Given the description of an element on the screen output the (x, y) to click on. 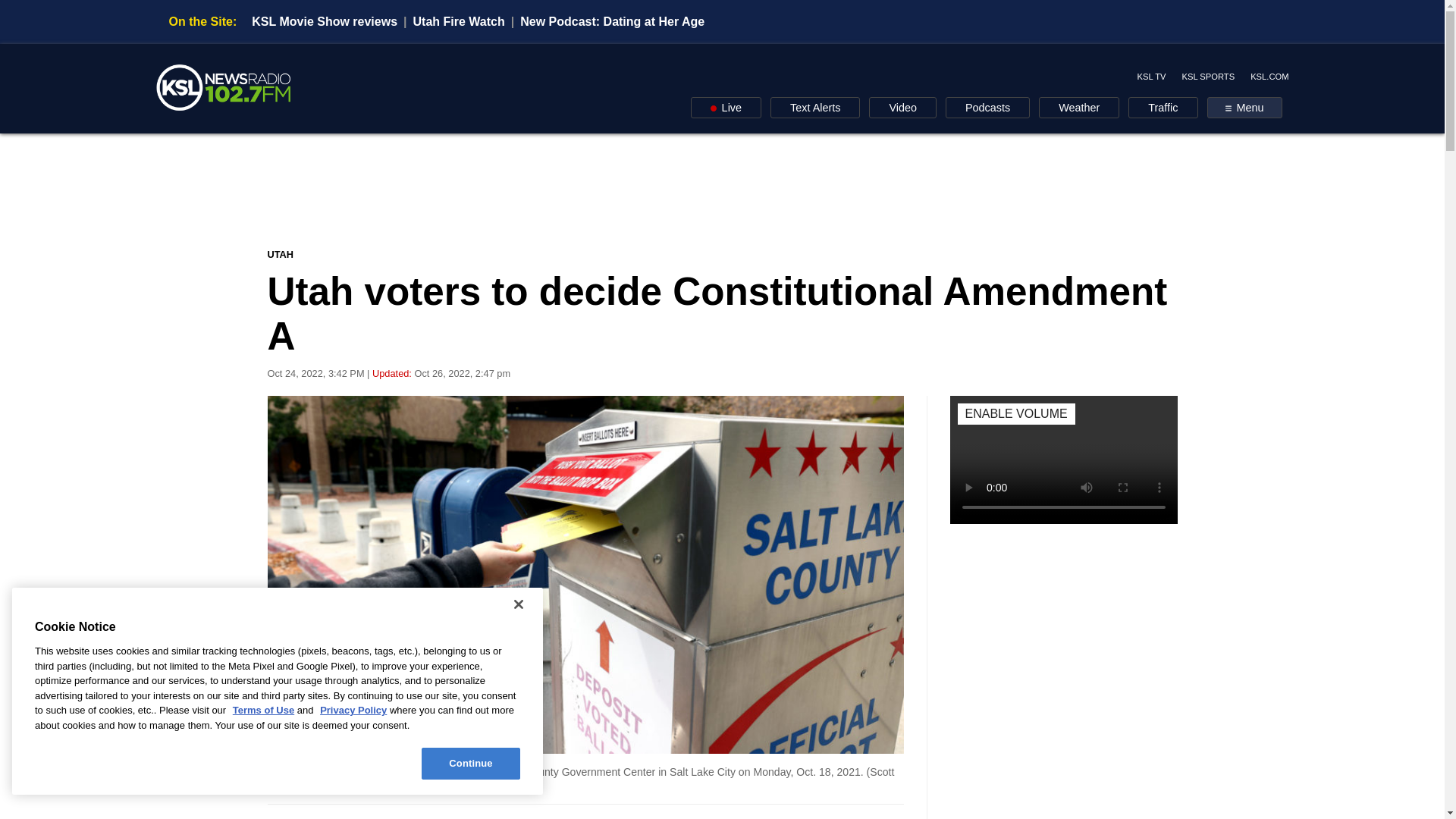
KSL Movie Show reviews (324, 21)
New Podcast: Dating at Her Age (611, 21)
Utah Fire Watch (459, 21)
